Given the description of an element on the screen output the (x, y) to click on. 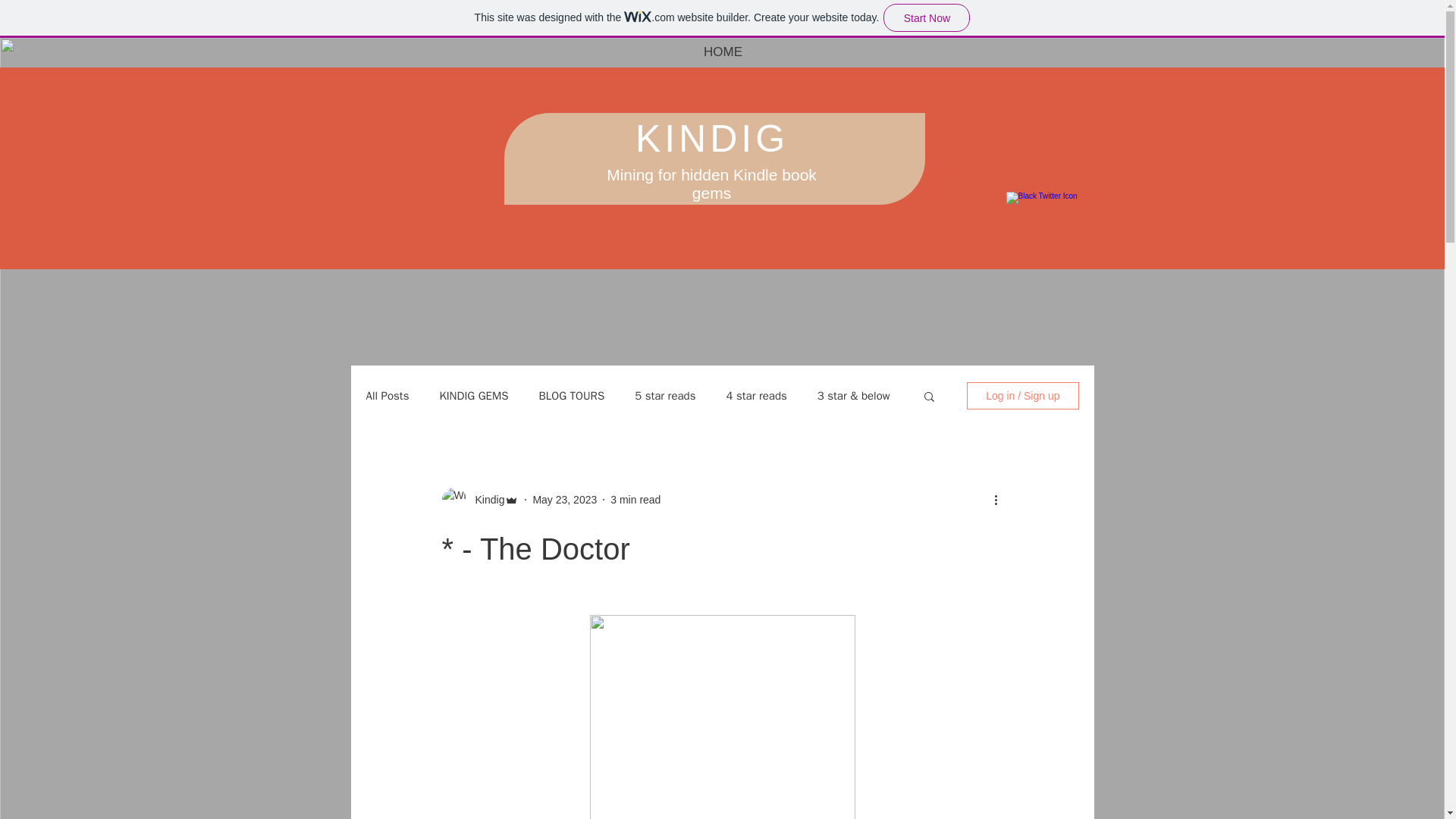
All Posts (387, 395)
Kindig (484, 498)
HOME (722, 51)
May 23, 2023 (564, 499)
5 star reads (664, 395)
4 star reads (755, 395)
3 min read (635, 499)
Mining for hidden Kindle book gems (711, 183)
BLOG TOURS (571, 395)
KINDIG (711, 138)
KINDIG GEMS (473, 395)
